Given the description of an element on the screen output the (x, y) to click on. 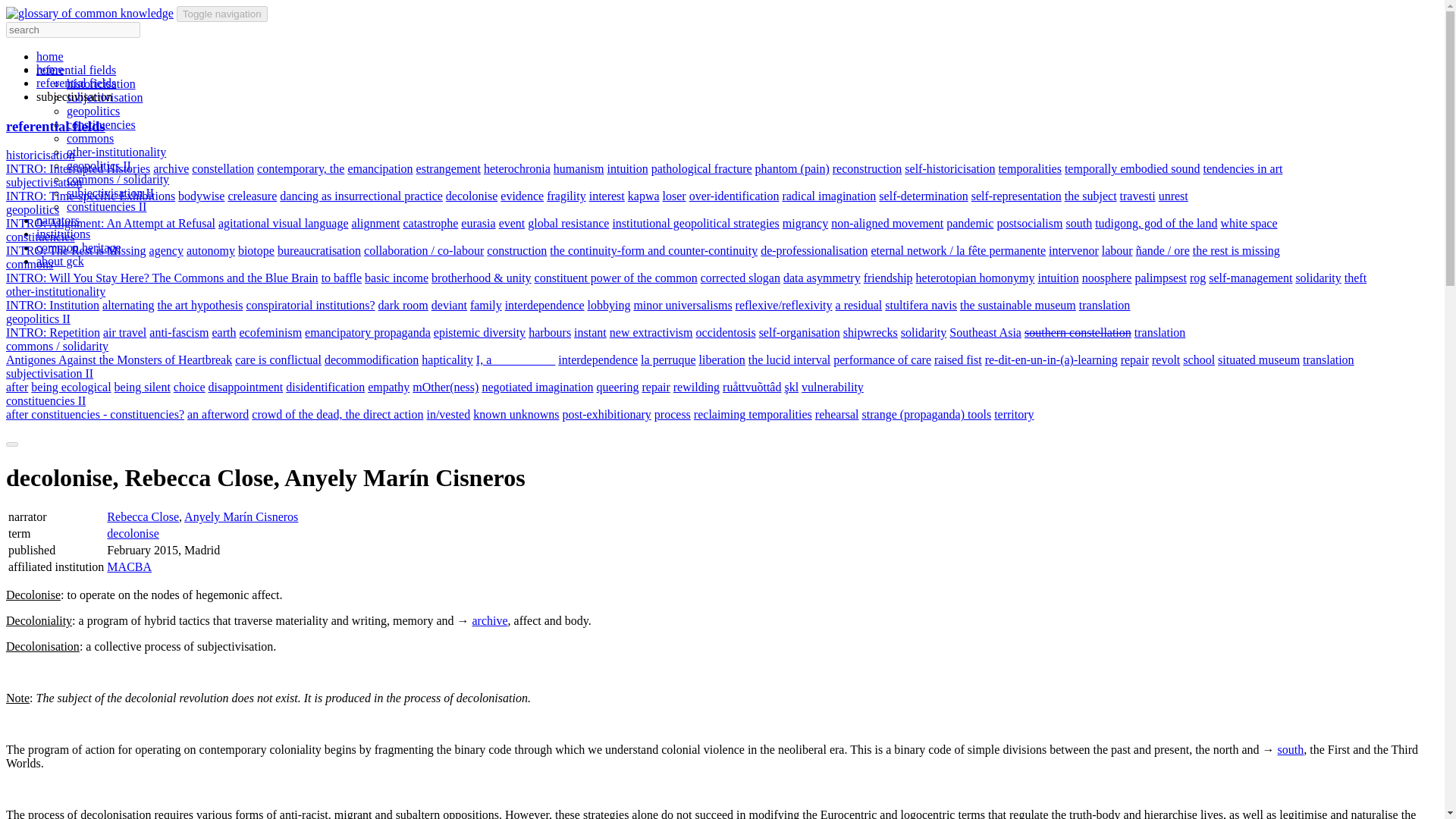
archive (170, 168)
common heritage (78, 246)
temporally embodied sound (1131, 168)
other-institutionality (115, 151)
home (50, 69)
Toggle navigation (221, 13)
tendencies in art (1243, 168)
pathological fracture (701, 168)
home (50, 56)
intuition (627, 168)
referential fields (76, 82)
geopolitics II (98, 164)
emancipation (379, 168)
constellation (222, 168)
referential fields (54, 125)
